Given the description of an element on the screen output the (x, y) to click on. 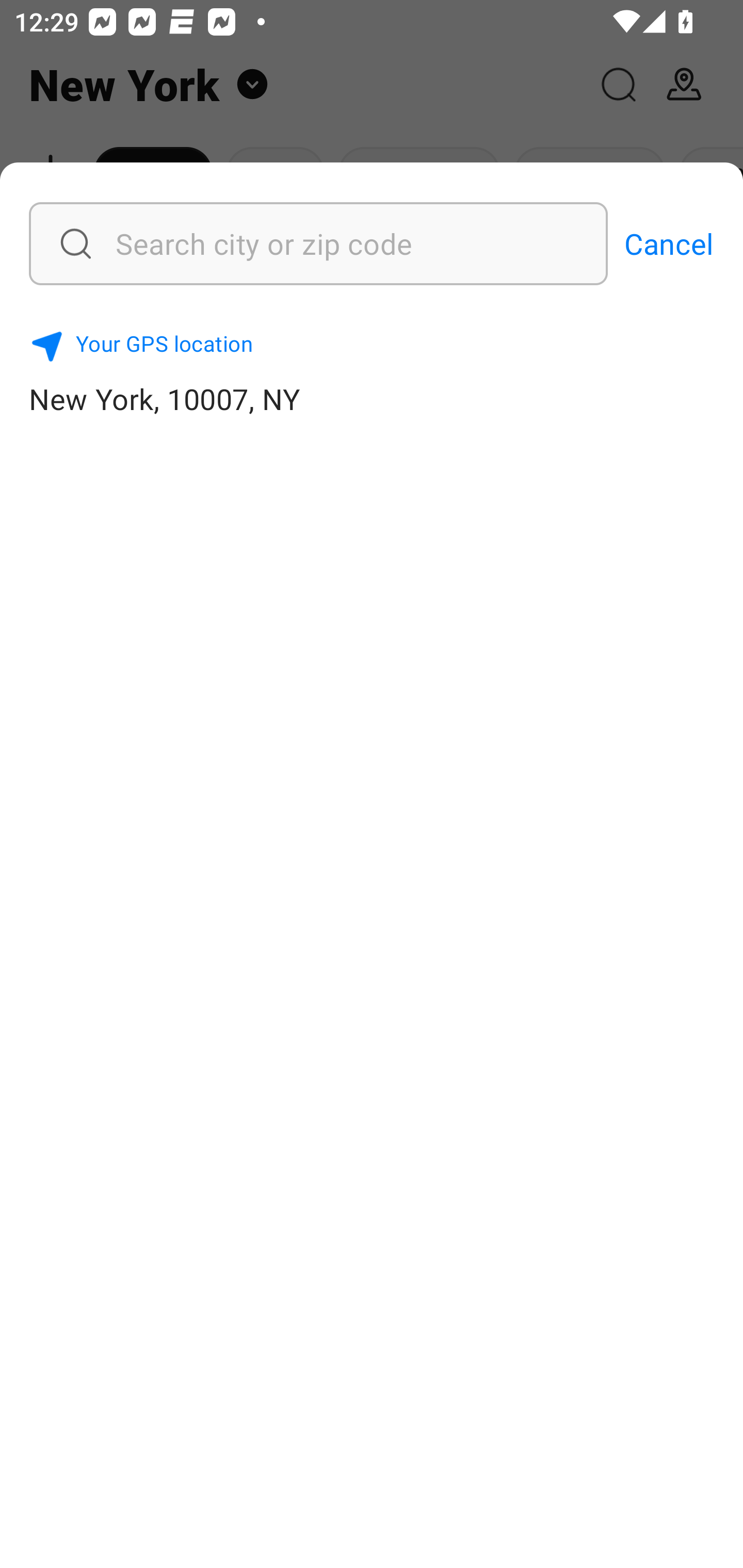
Search city or zip code (267, 243)
Cancel (669, 243)
Your GPS location New York, 10007, NY (371, 370)
